Given the description of an element on the screen output the (x, y) to click on. 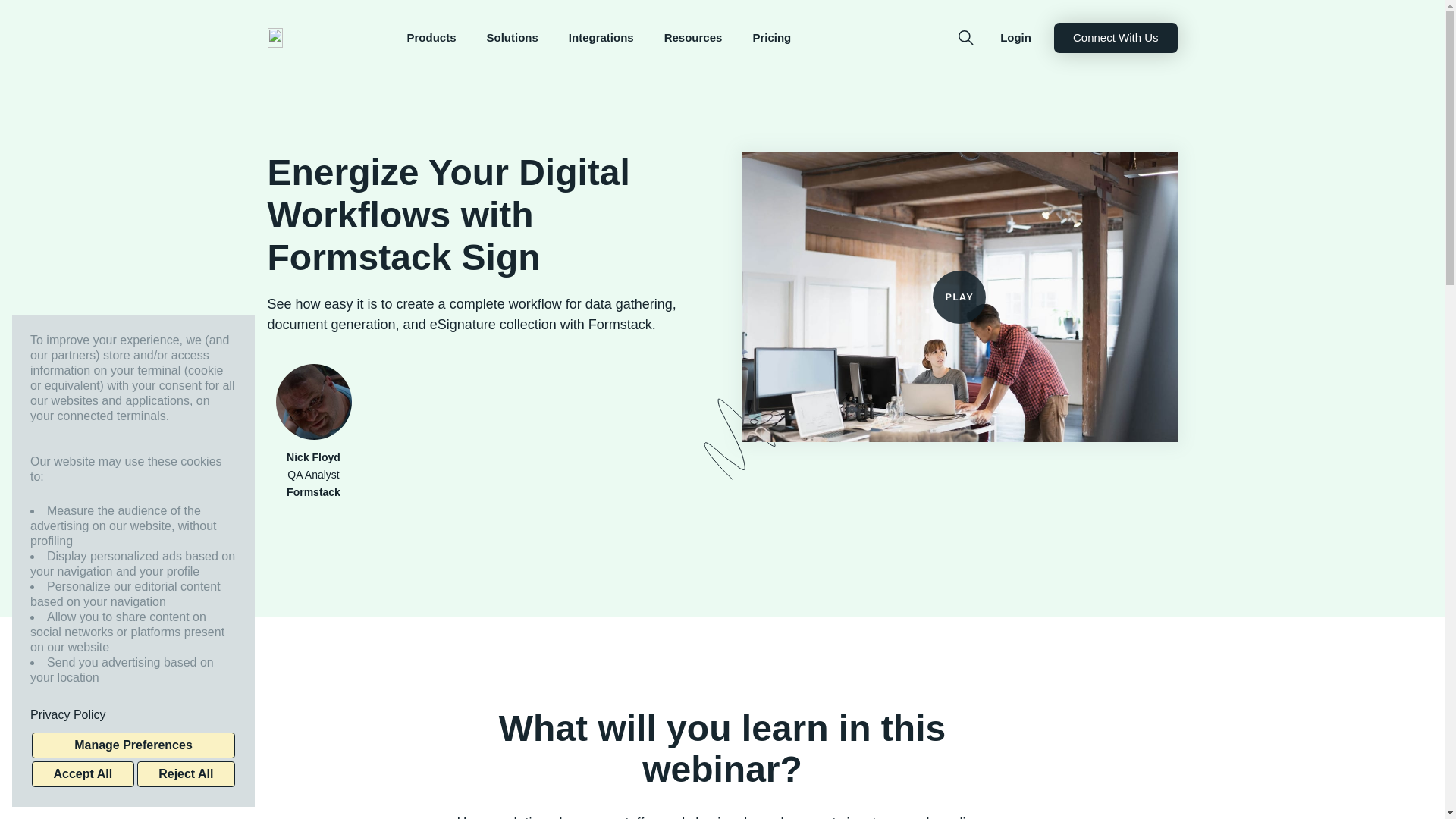
Accept All (82, 774)
Products (430, 37)
Solutions (512, 37)
Privacy Policy (132, 714)
Reject All (185, 774)
Manage Preferences (133, 745)
